Given the description of an element on the screen output the (x, y) to click on. 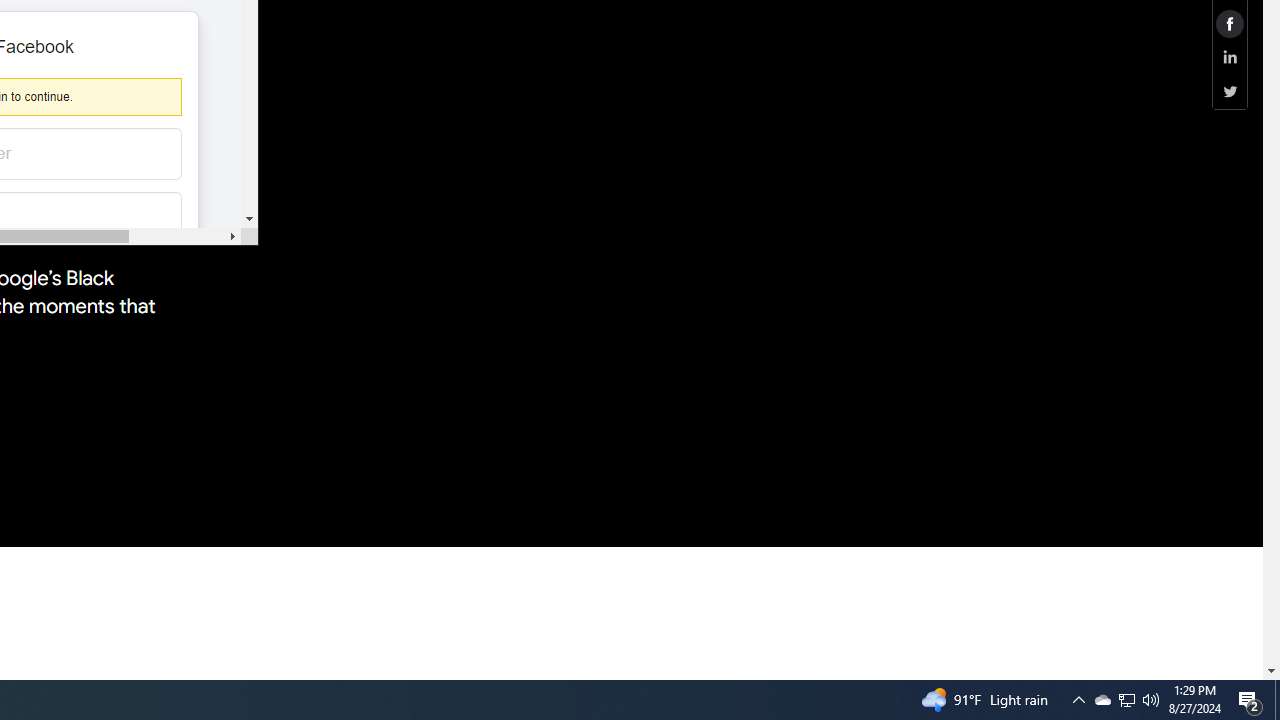
Action Center, 2 new notifications (1126, 699)
Q2790: 100% (1250, 699)
Show desktop (1102, 699)
User Promoted Notification Area (1151, 699)
Notification Chevron (1277, 699)
